Given the description of an element on the screen output the (x, y) to click on. 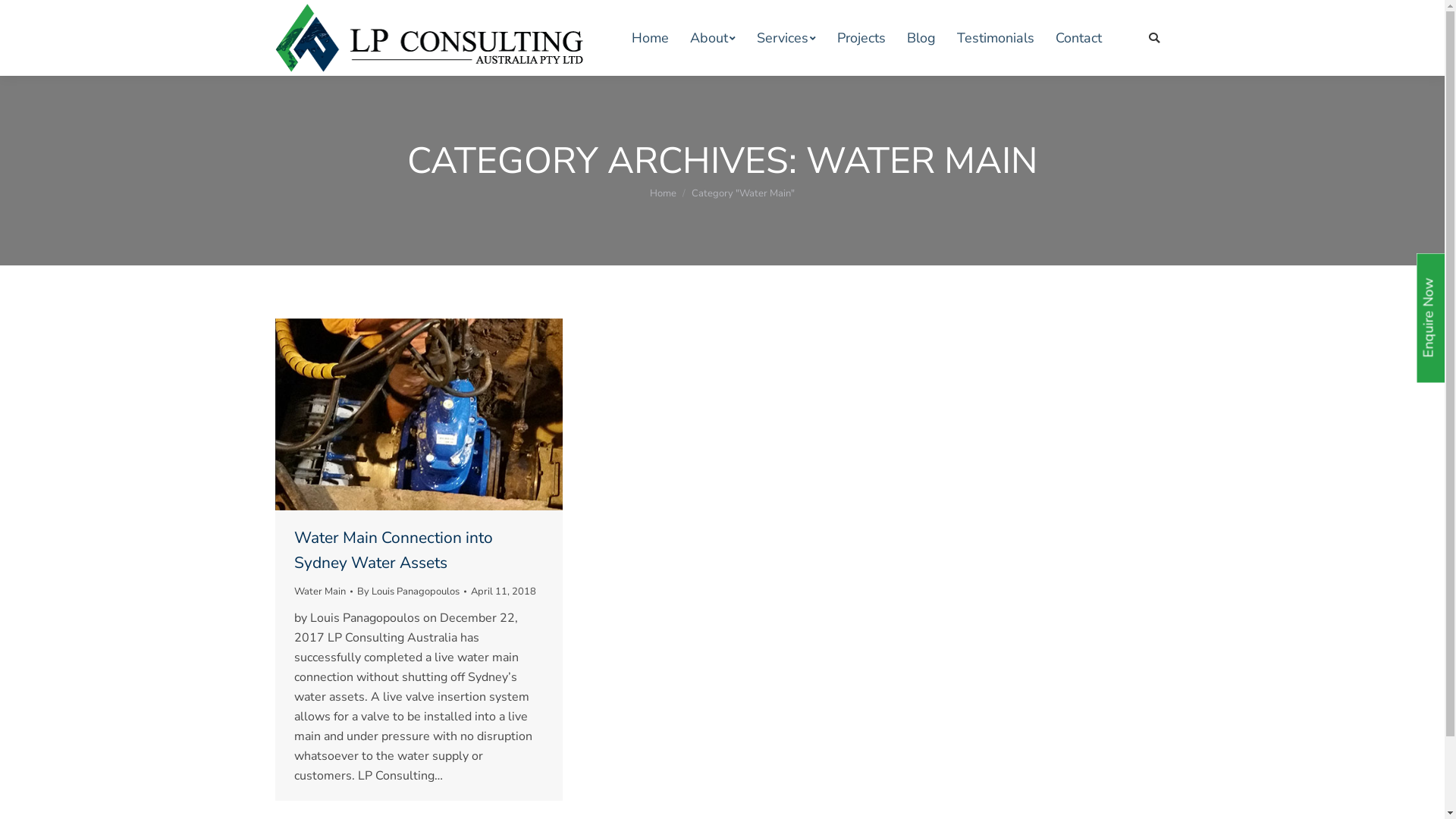
Water Main Connection Element type: hover (417, 414)
Home Element type: text (662, 193)
Projects Element type: text (861, 37)
Home Element type: text (649, 37)
  Element type: text (1158, 37)
April 11, 2018 Element type: text (502, 591)
Go! Element type: text (21, 14)
Blog Element type: text (920, 37)
Water Main Element type: text (319, 591)
Testimonials Element type: text (995, 37)
Contact Element type: text (1078, 37)
Water Main Connection into Sydney Water Assets Element type: text (418, 550)
Services Element type: text (786, 37)
By Louis Panagopoulos Element type: text (410, 591)
About Element type: text (712, 37)
